Given the description of an element on the screen output the (x, y) to click on. 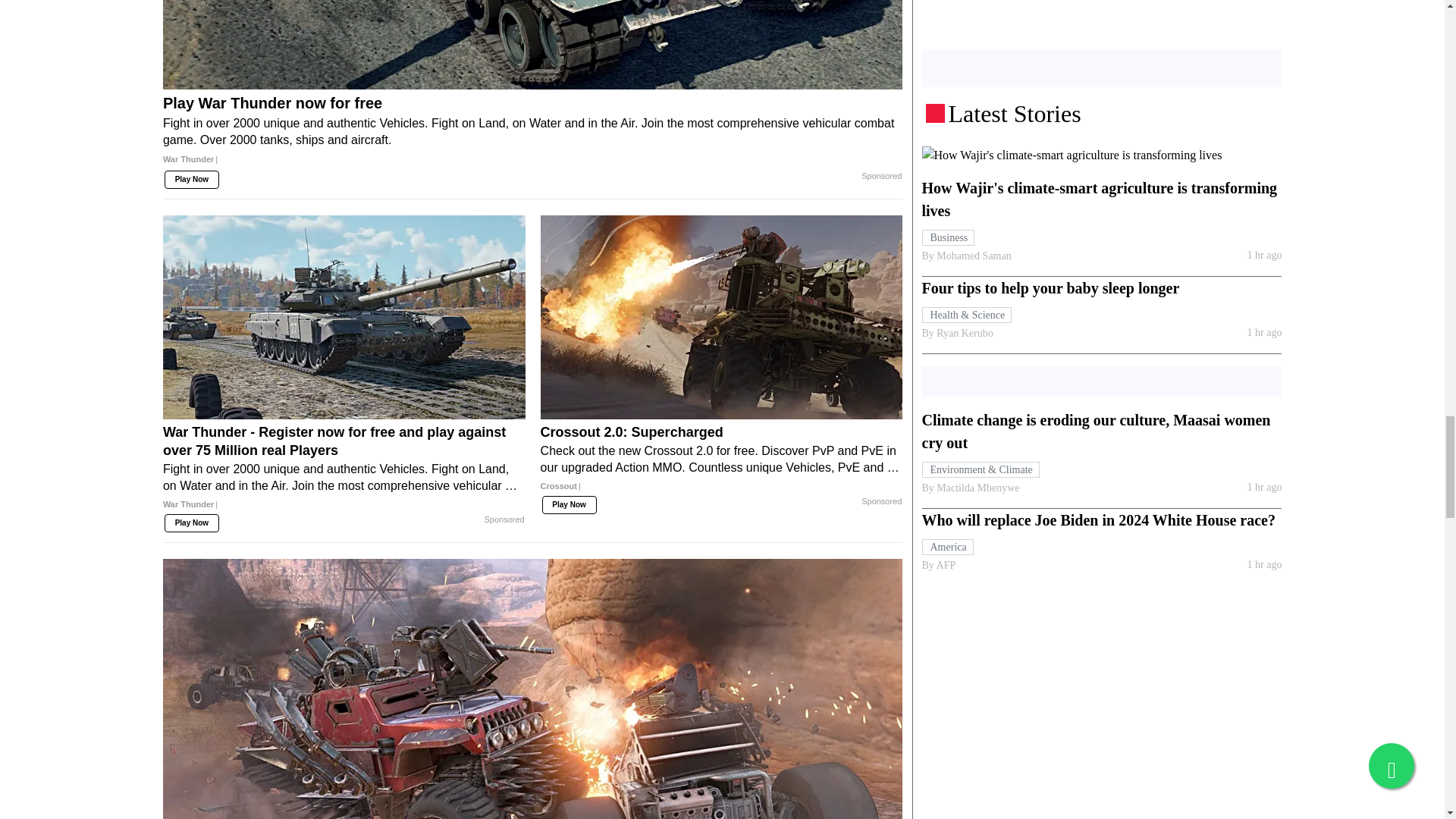
Play War Thunder now for free (532, 44)
Play War Thunder now for free (532, 136)
